Given the description of an element on the screen output the (x, y) to click on. 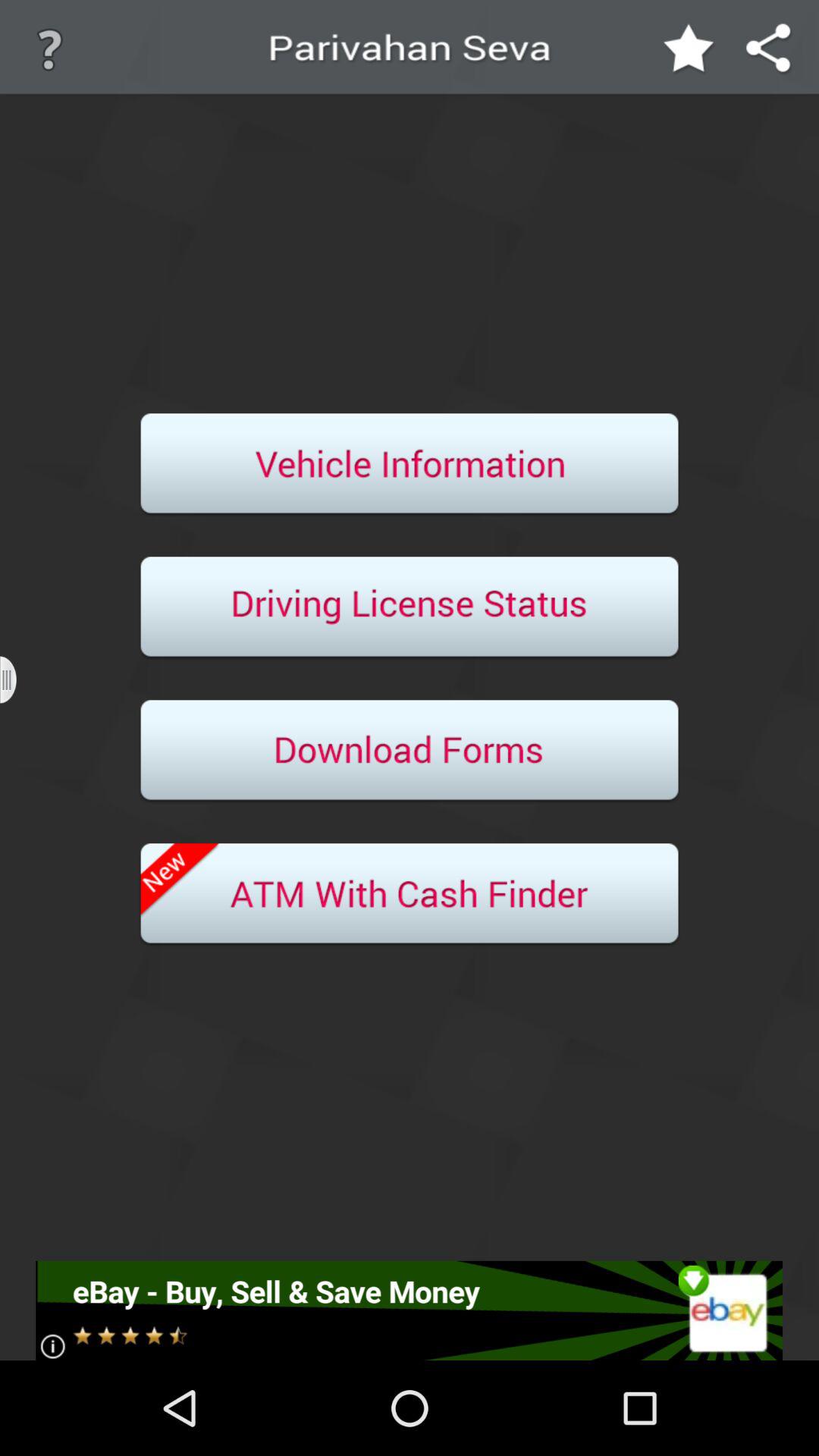
toggle to connect to ebay (408, 1310)
